Given the description of an element on the screen output the (x, y) to click on. 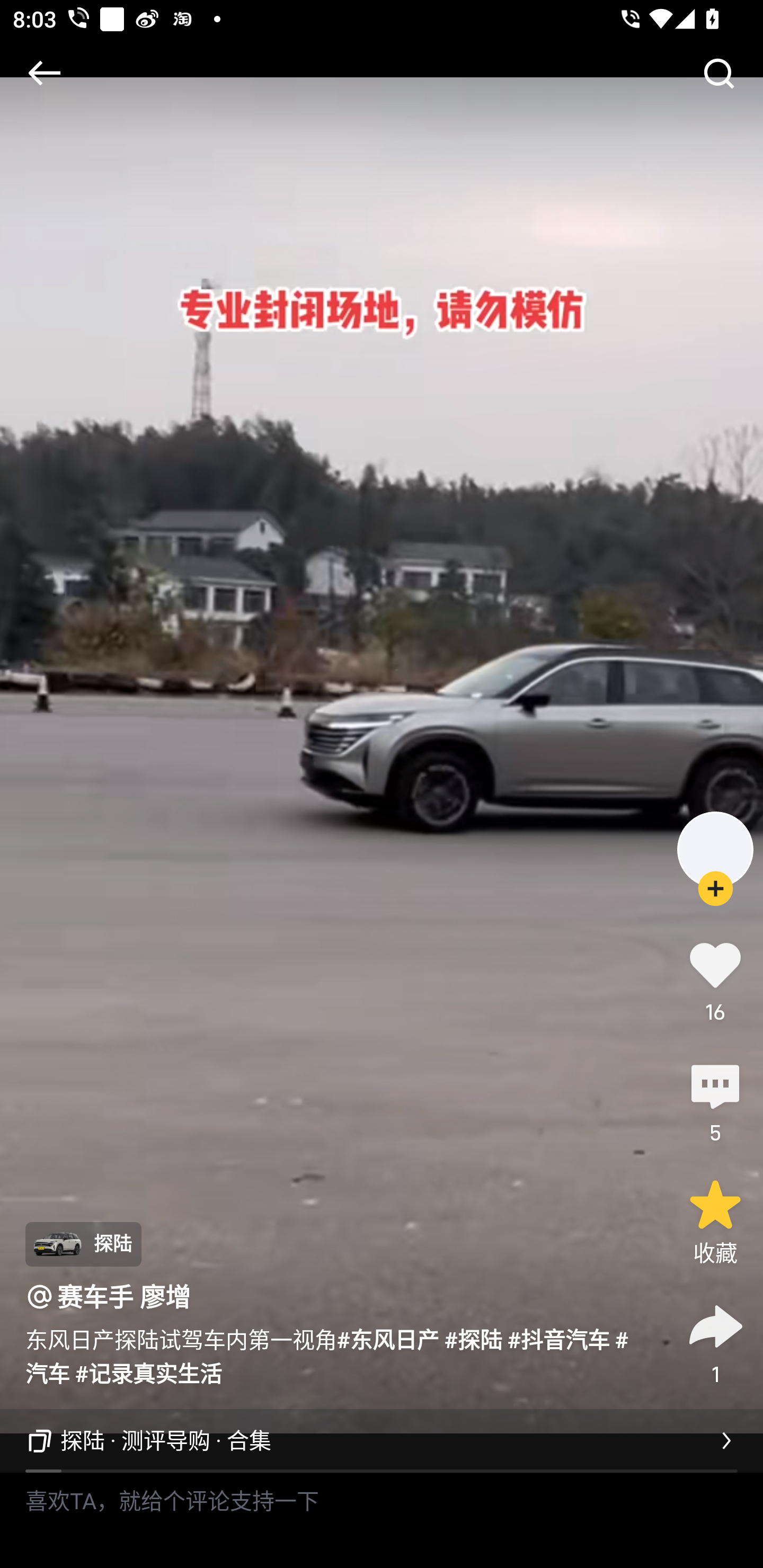
 (44, 72)
 (718, 72)
5 (715, 1100)
收藏 (715, 1221)
探陆 (83, 1243)
赛车手 廖增 (123, 1296)
1 (715, 1342)
东风日产探陆试驾车内第一视角#东风日产 #探陆 #抖音汽车 #汽车 #记录真实生活 (336, 1355)
探陆 · 测评导购 · 合集 (381, 1440)
喜欢TA，就给个评论支持一下 (381, 1520)
